Given the description of an element on the screen output the (x, y) to click on. 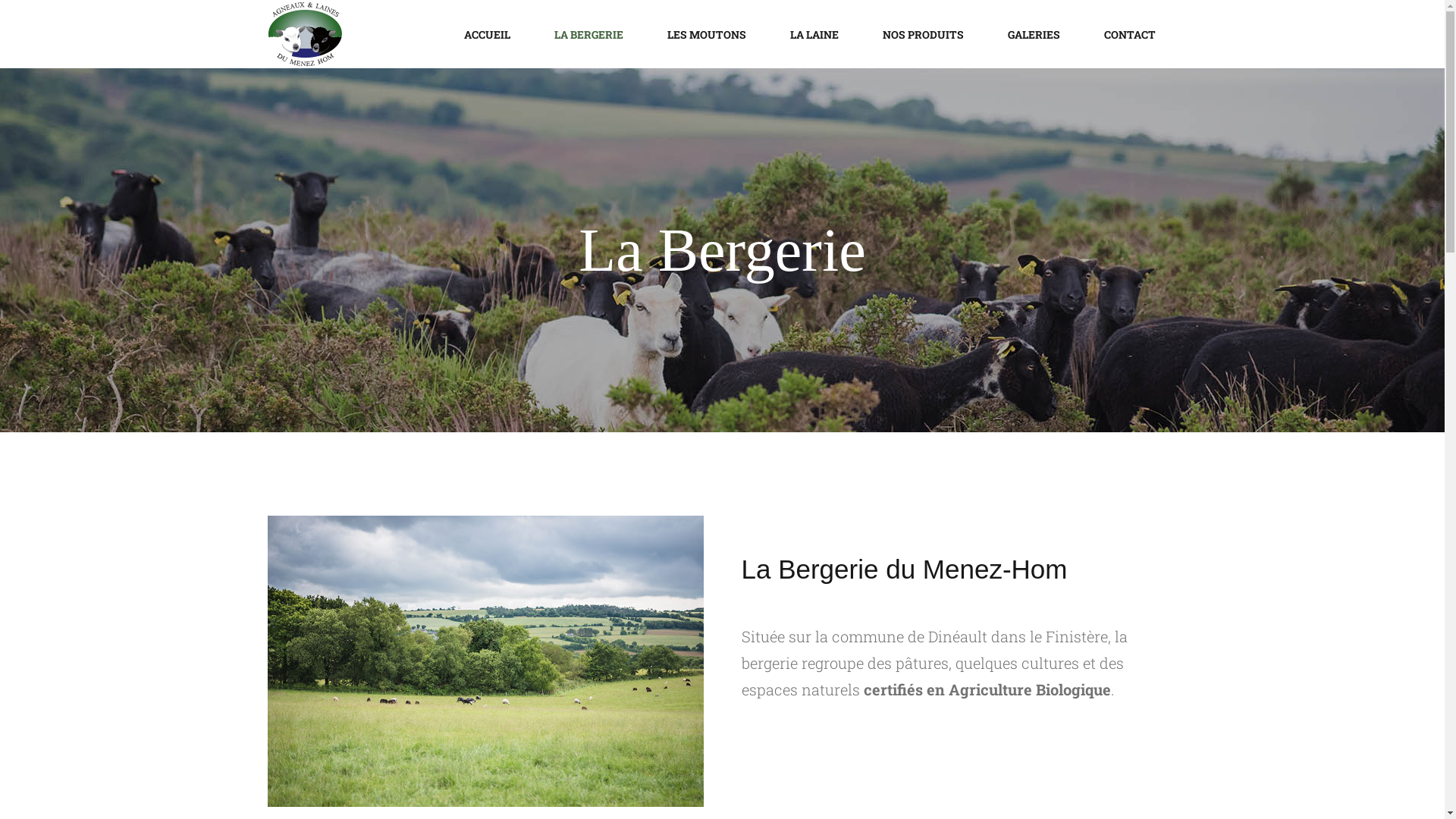
LA BERGERIE Element type: text (588, 34)
NOS PRODUITS Element type: text (922, 34)
CONTACT Element type: text (1128, 34)
GALERIES Element type: text (1033, 34)
ACCUEIL Element type: text (486, 34)
LA LAINE Element type: text (813, 34)
LES MOUTONS Element type: text (705, 34)
